Given the description of an element on the screen output the (x, y) to click on. 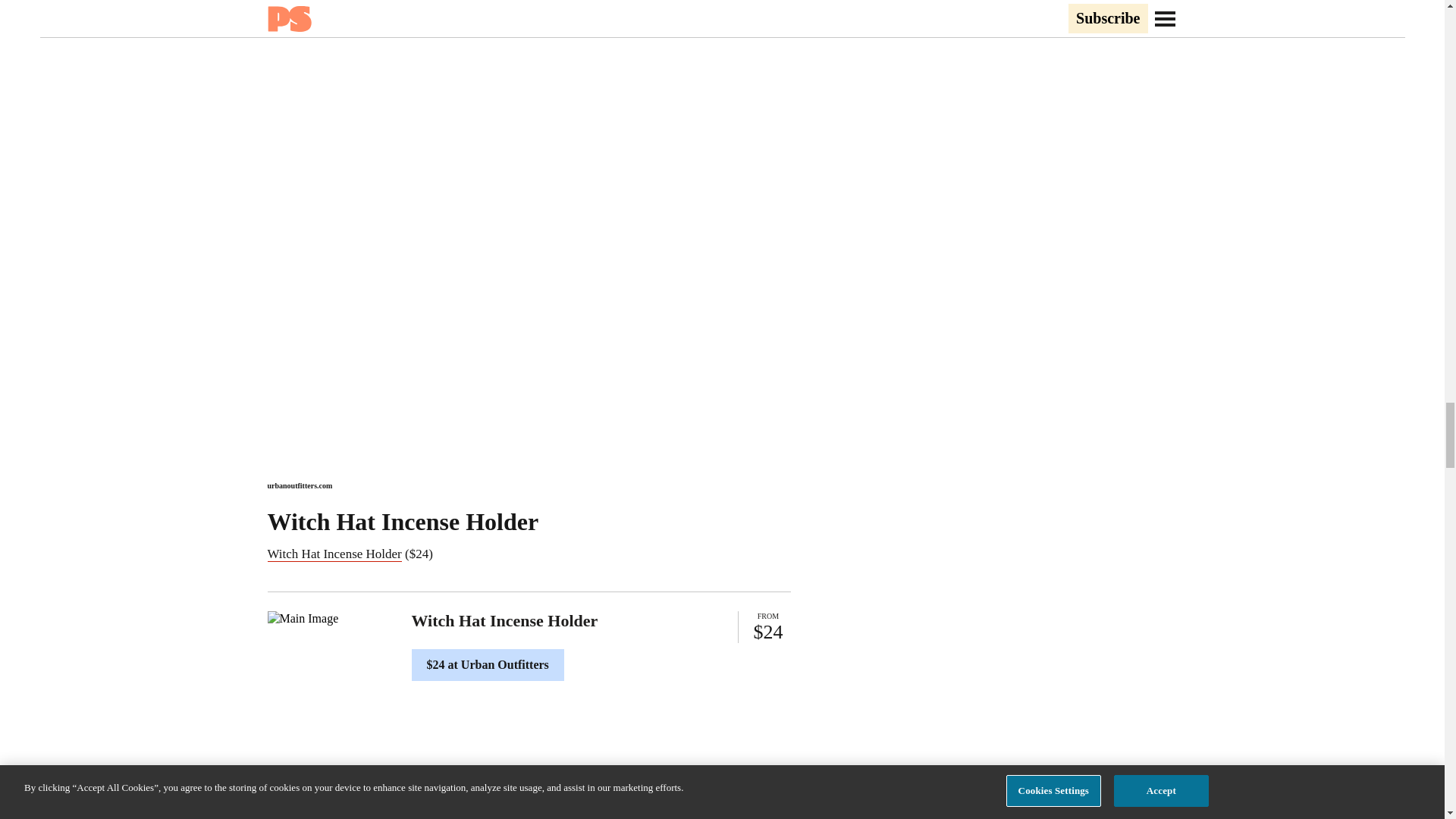
urbanoutfitters.com (298, 485)
Witch Hat Incense Holder (333, 554)
